Given the description of an element on the screen output the (x, y) to click on. 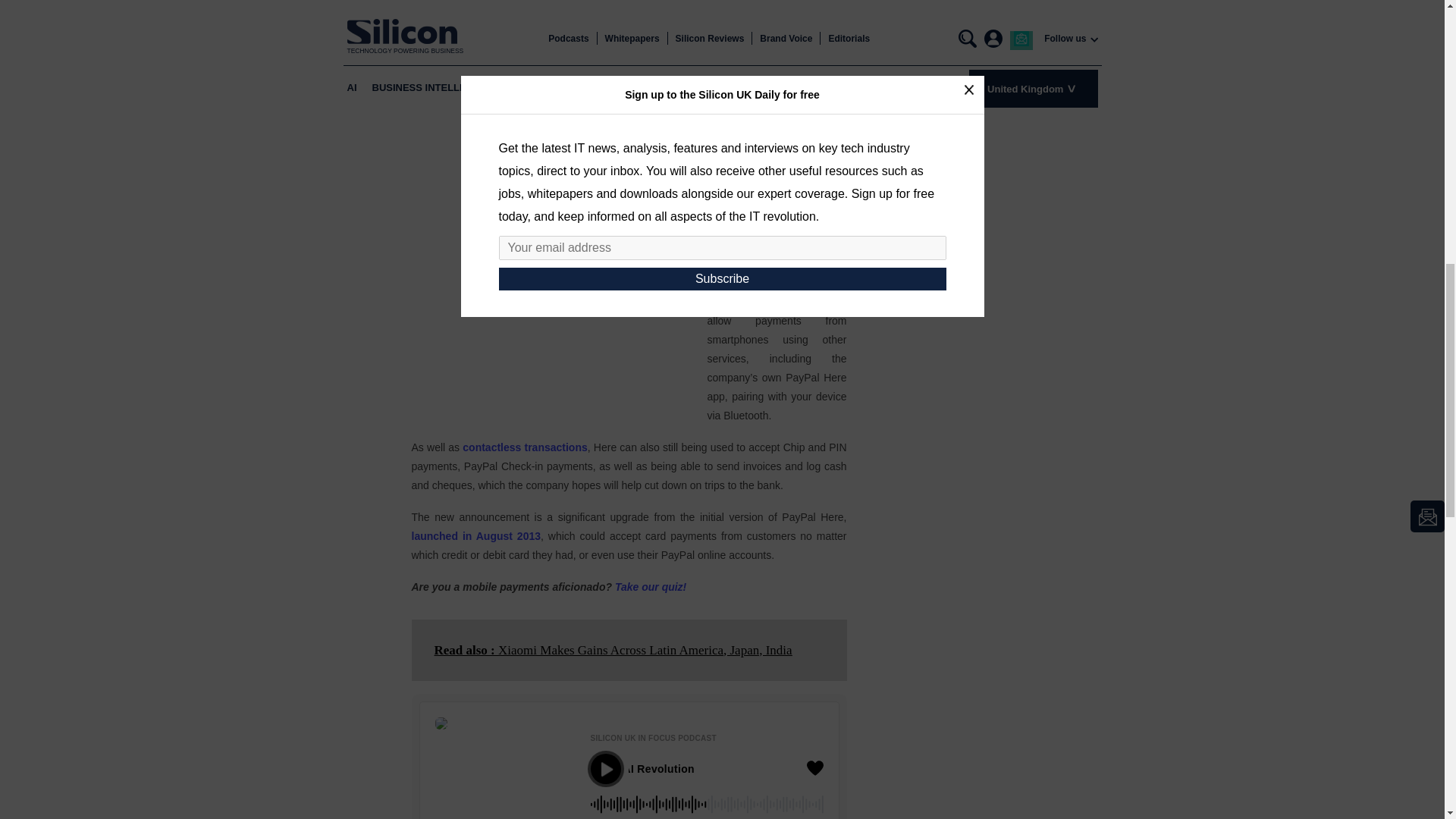
PayPal Here Offers Mobile Payments To SMBs (475, 535)
50 (705, 807)
Silicon In Focus Podcast: Powering the AI Revolution (737, 768)
Silicon In Focus Podcast: Powering the AI Revolution (715, 768)
Where Next For NFC In The UK? (658, 27)
